Given the description of an element on the screen output the (x, y) to click on. 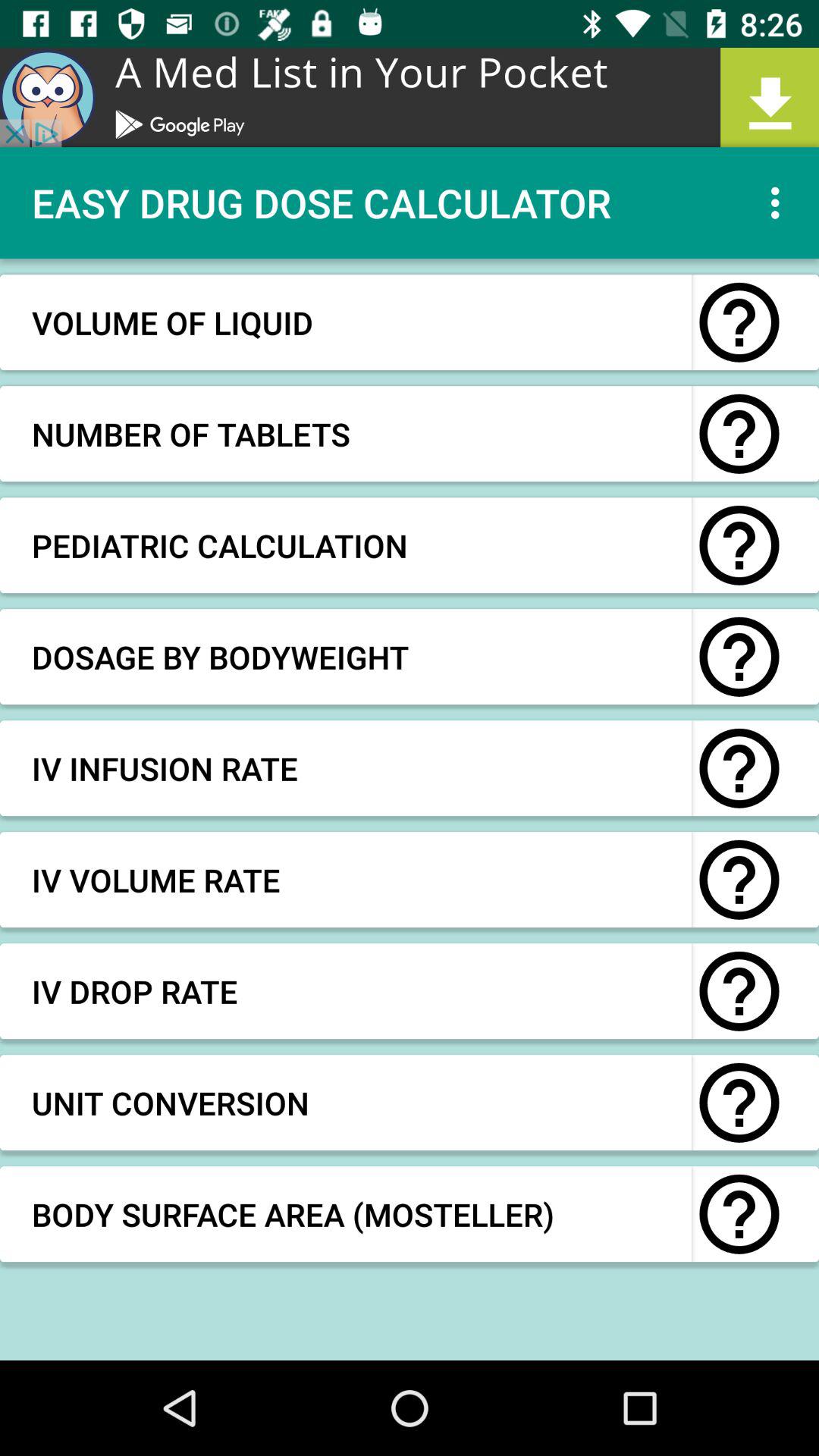
gives more info on item (739, 322)
